Given the description of an element on the screen output the (x, y) to click on. 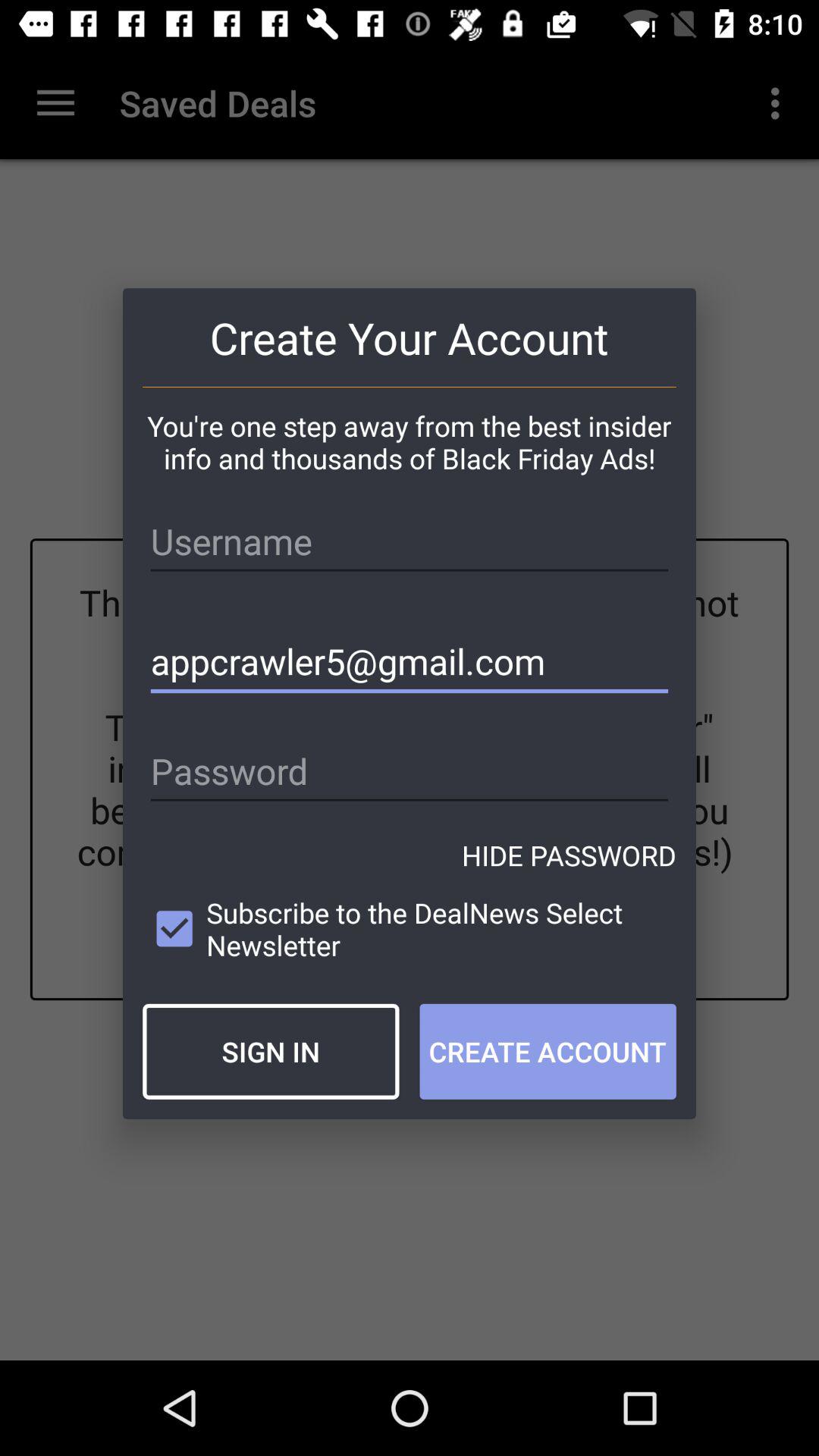
select icon below the you re one (409, 541)
